Given the description of an element on the screen output the (x, y) to click on. 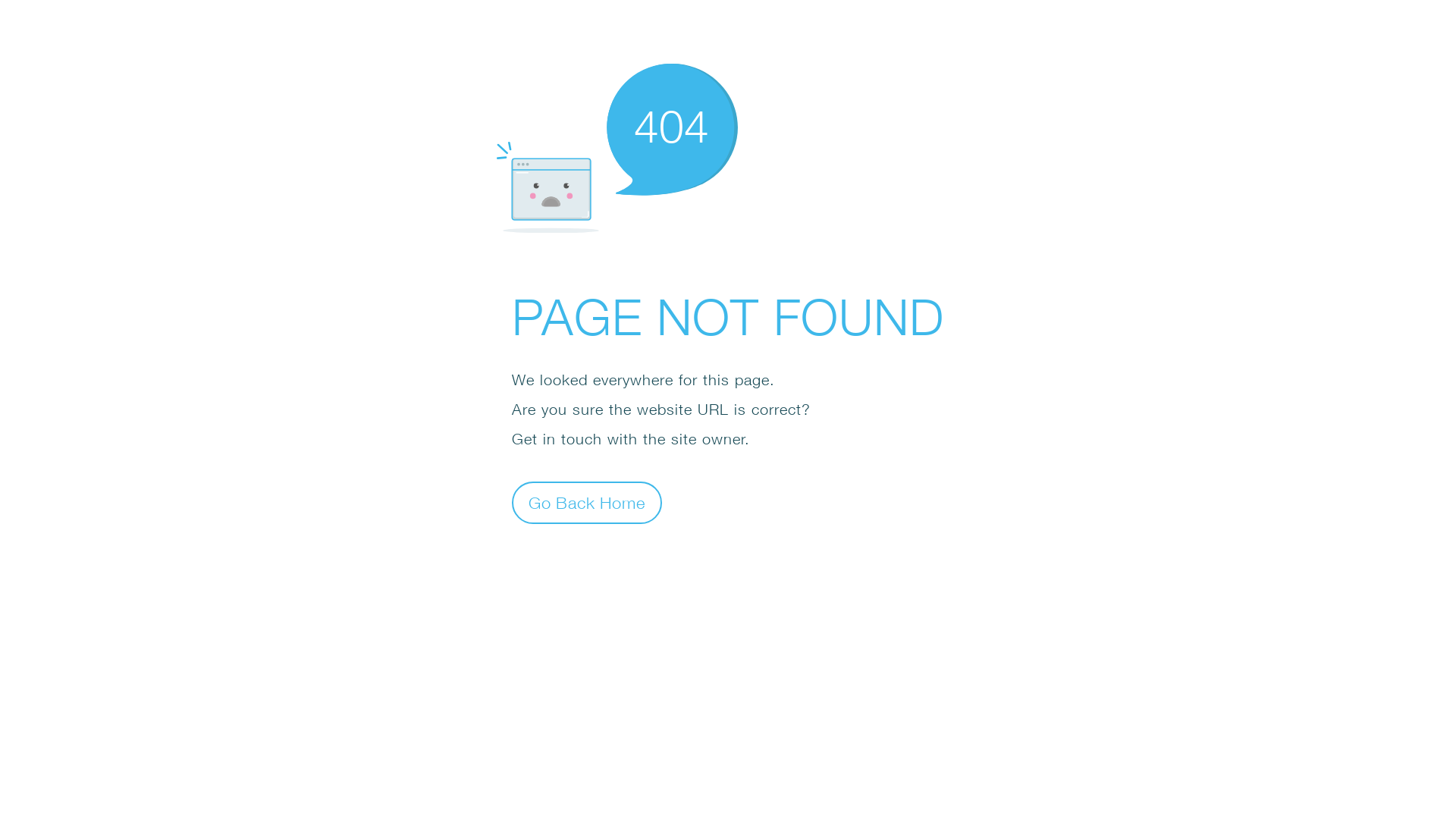
Go Back Home Element type: text (586, 502)
